Given the description of an element on the screen output the (x, y) to click on. 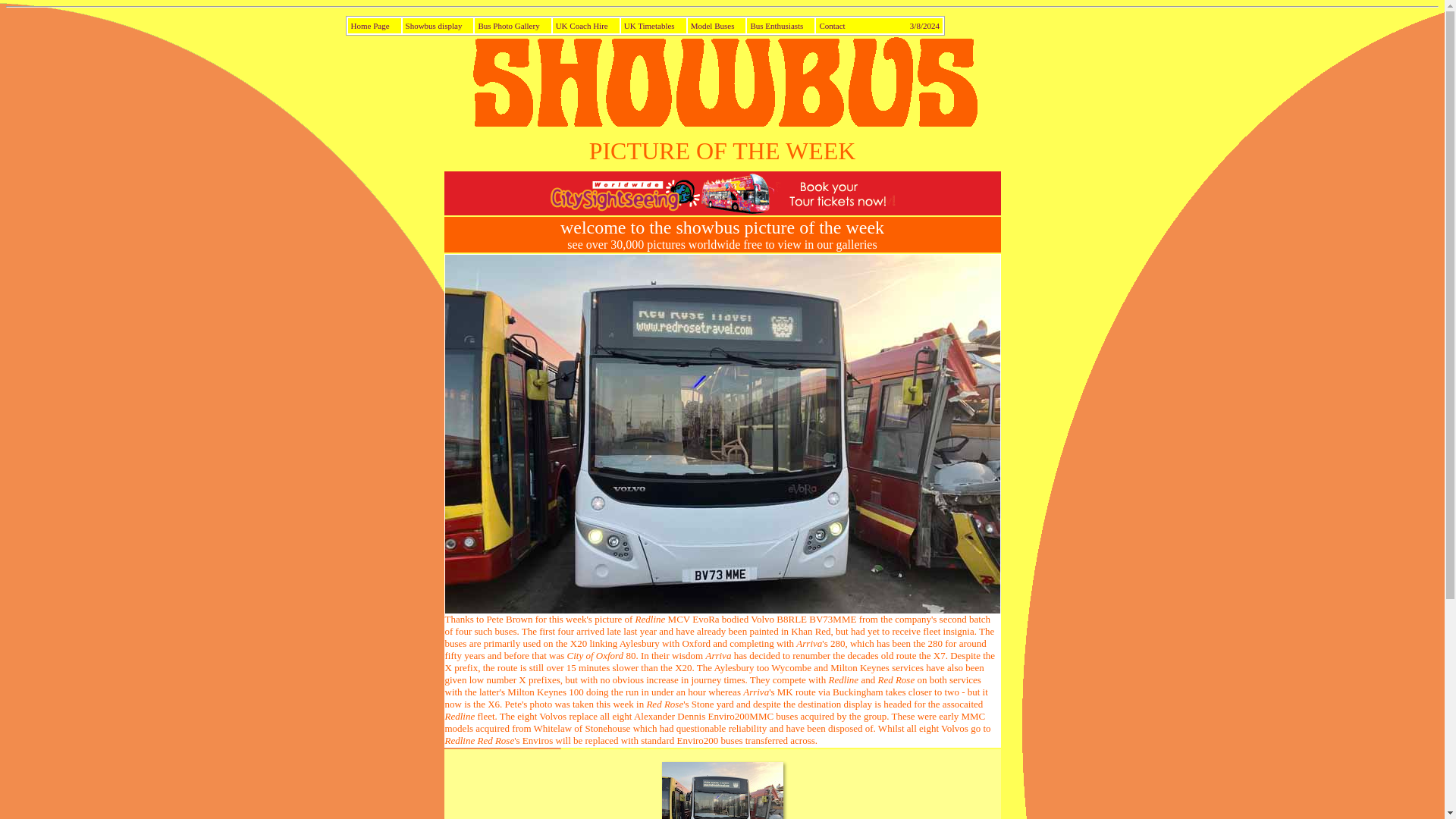
Showbus display (438, 25)
Bus Photo Gallery (512, 25)
Home Page (373, 25)
